Given the description of an element on the screen output the (x, y) to click on. 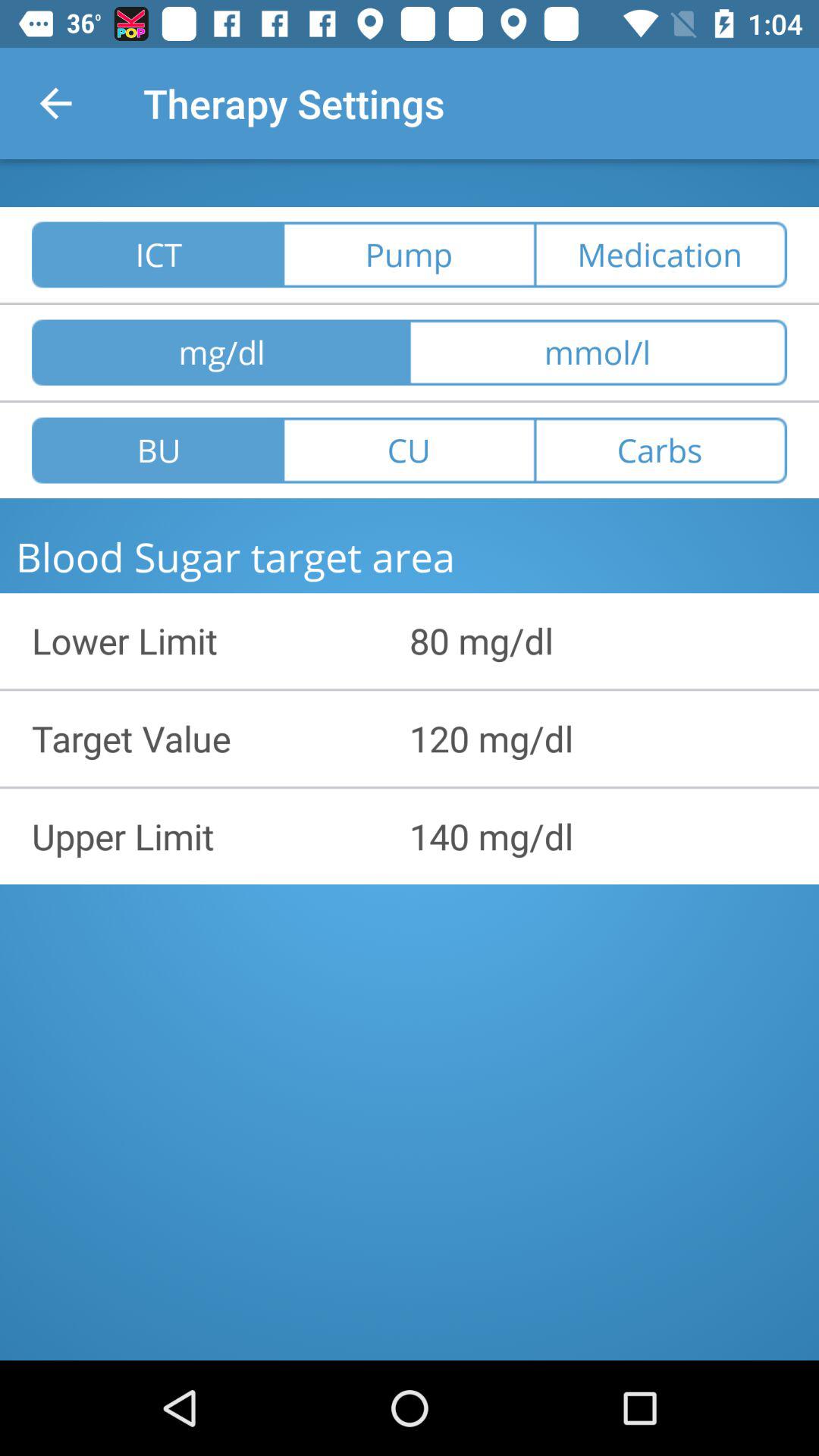
open item next to mg/dl (598, 352)
